Given the description of an element on the screen output the (x, y) to click on. 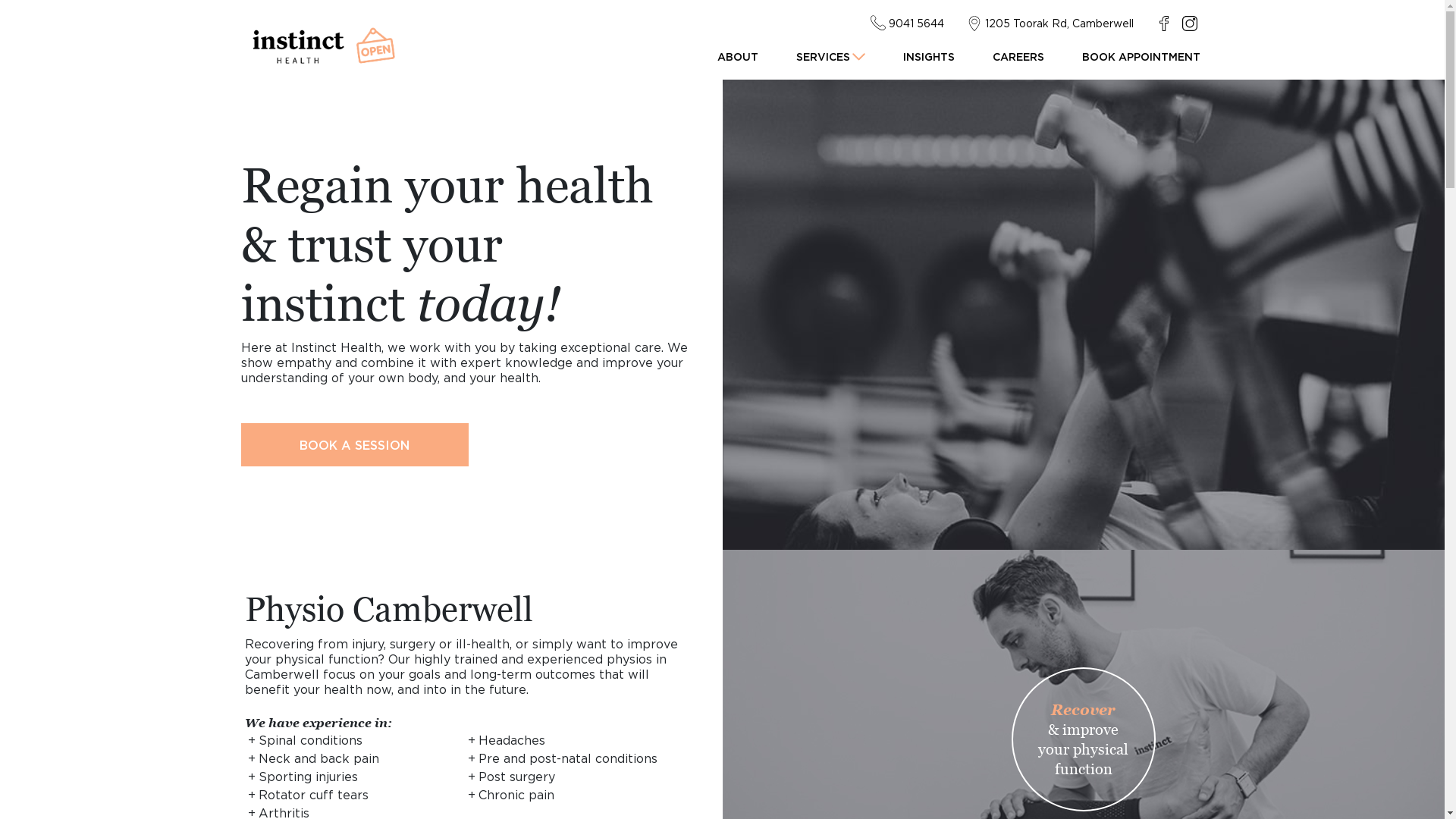
CAREERS Element type: text (1017, 56)
BOOK A SESSION Element type: text (354, 444)
ABOUT Element type: text (737, 56)
SERVICES Element type: text (830, 56)
1205 Toorak Rd, Camberwell Element type: text (1049, 23)
9041 5644 Element type: text (907, 23)
BOOK APPOINTMENT Element type: text (1140, 56)
INSIGHTS Element type: text (927, 56)
